Given the description of an element on the screen output the (x, y) to click on. 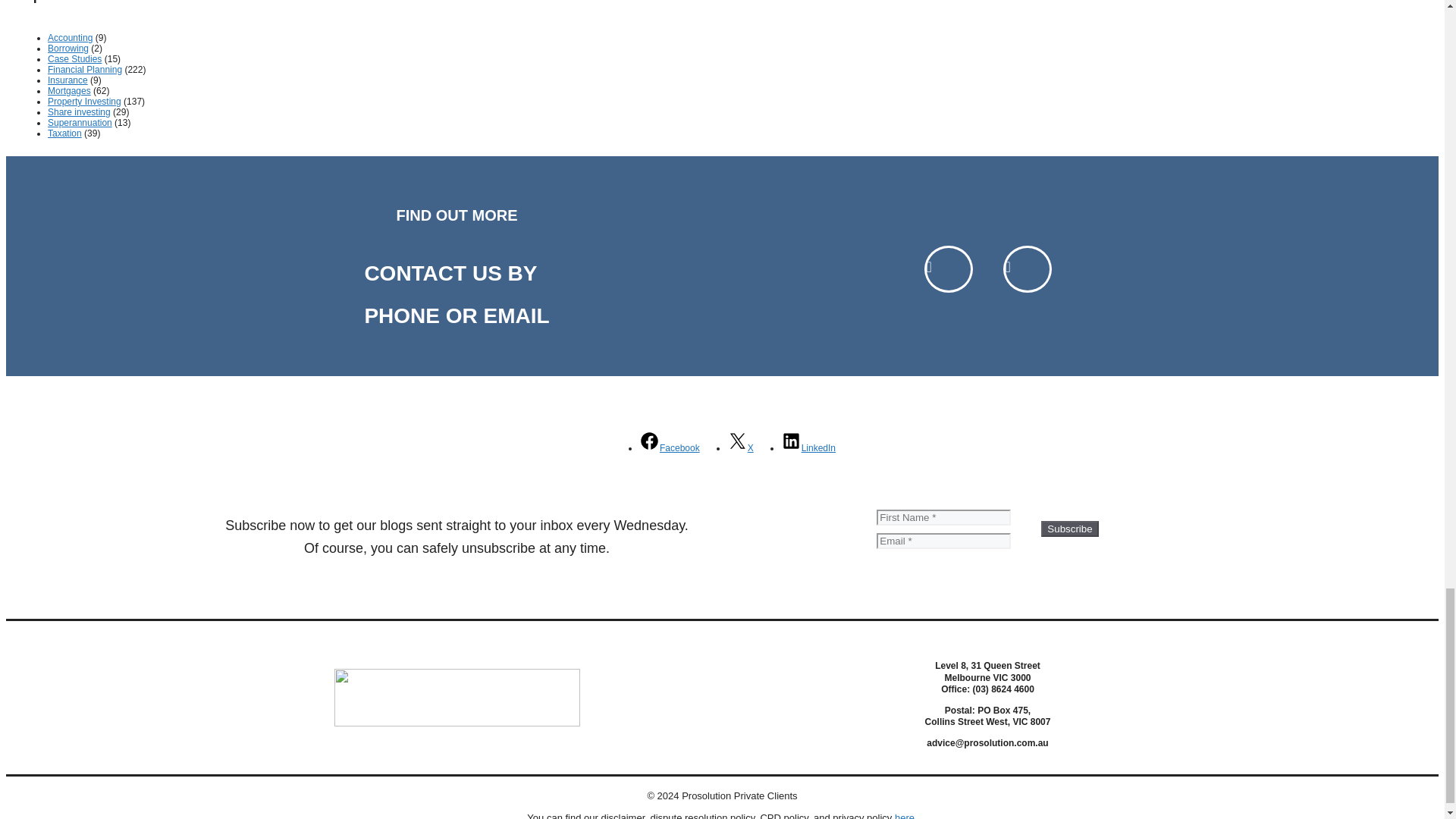
Borrowing (68, 48)
Accounting (70, 37)
Insurance (67, 80)
Mortgages (69, 90)
Share investing (79, 112)
Financial Planning (85, 69)
Property Investing (84, 101)
Facebook (669, 448)
Superannuation (80, 122)
Case Studies (74, 59)
Logo-324px (456, 697)
Taxation (64, 132)
